Given the description of an element on the screen output the (x, y) to click on. 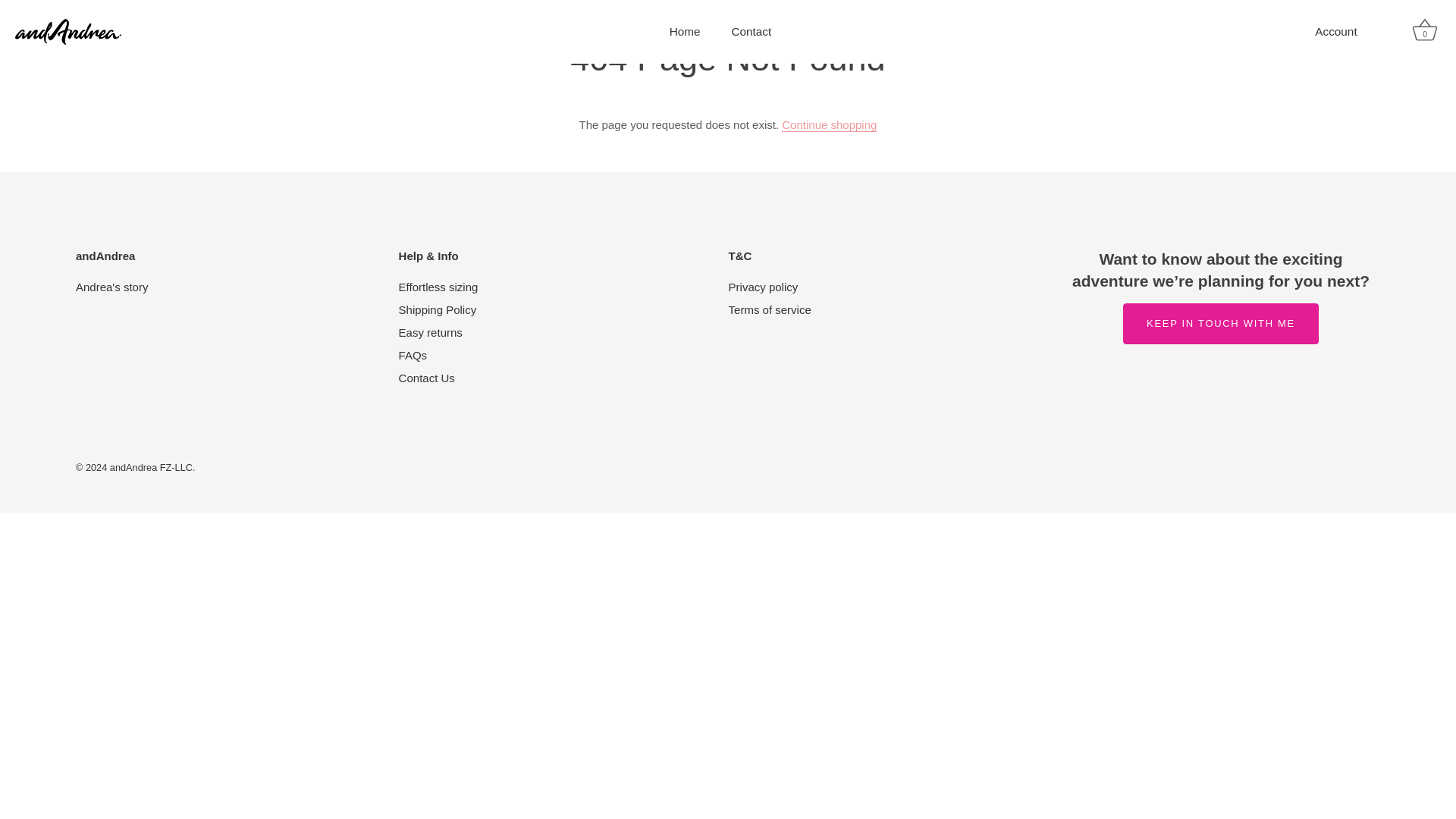
Basket (1424, 30)
Privacy policy (763, 286)
Shipping Policy (437, 309)
Account (1348, 31)
FAQs (413, 354)
Effortless sizing (438, 286)
KEEP IN TOUCH WITH ME (1220, 323)
Continue shopping (828, 124)
Andrea's story (111, 286)
Terms of service (769, 309)
Contact Us (426, 377)
andAndrea FZ-LLC (151, 467)
Contact (750, 31)
Home (684, 31)
Easy returns (430, 332)
